Given the description of an element on the screen output the (x, y) to click on. 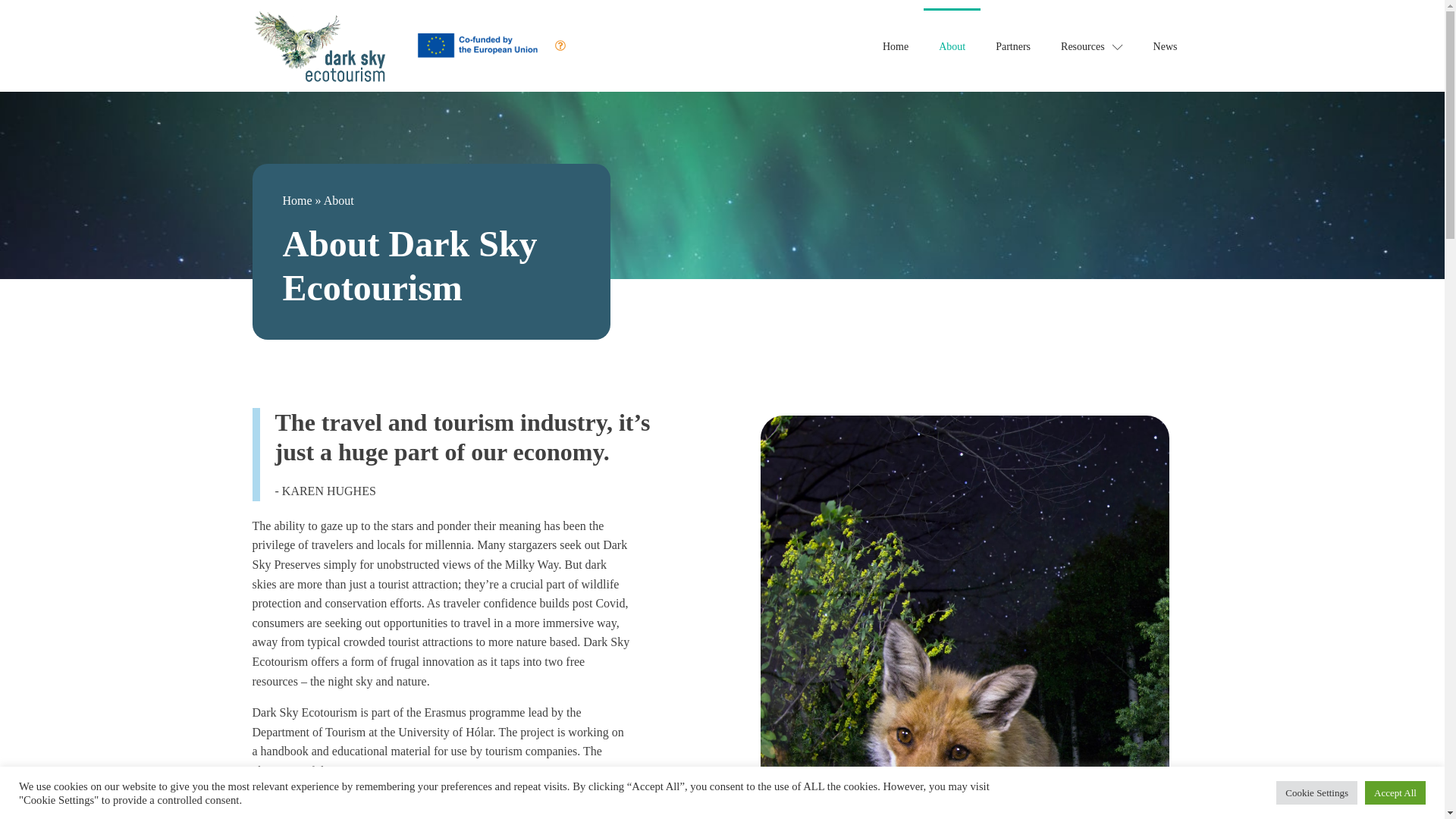
Cookie Settings (1316, 792)
Home (296, 200)
Resources (1091, 45)
Accept All (1395, 792)
